Given the description of an element on the screen output the (x, y) to click on. 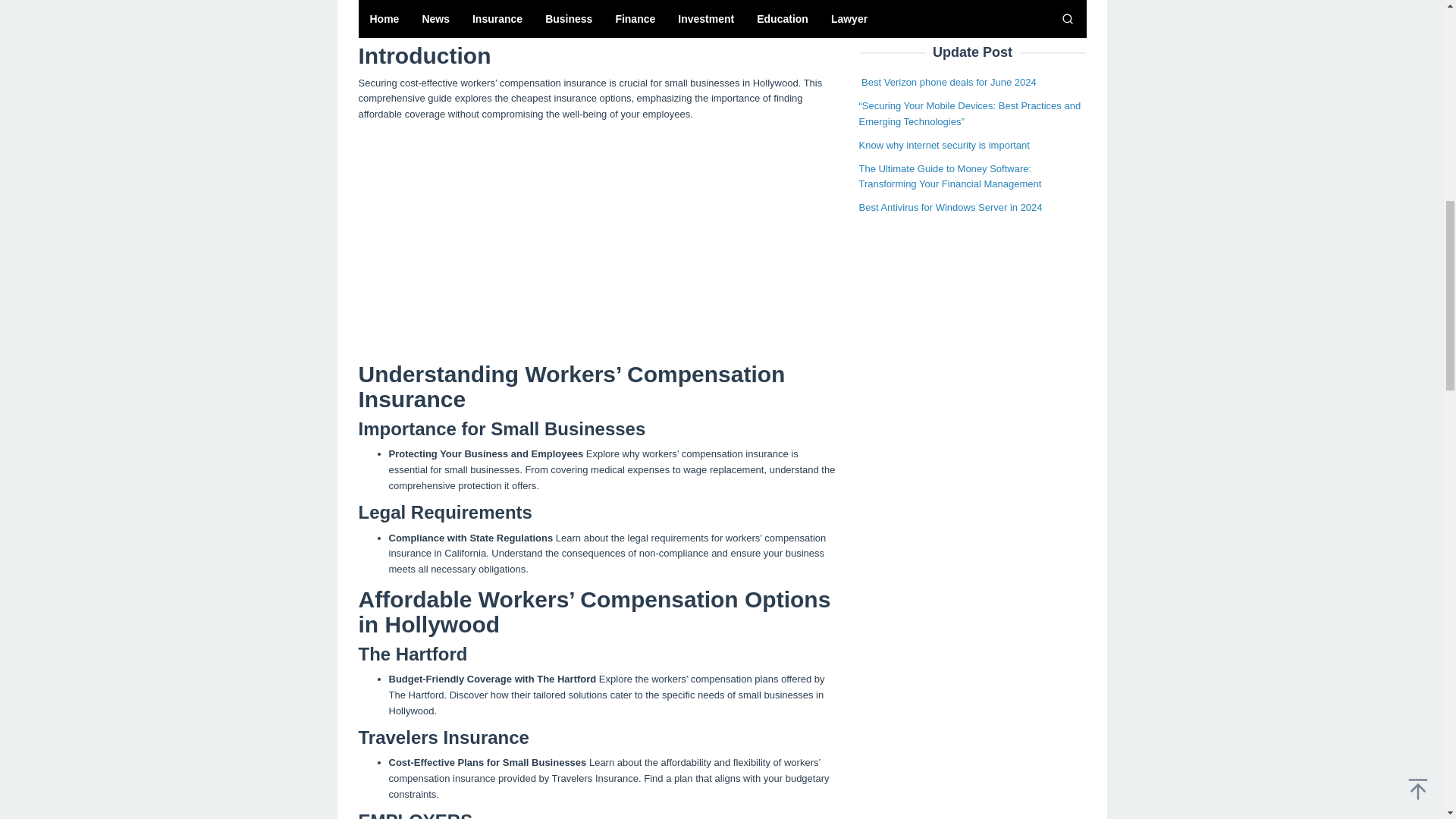
Advertisement (596, 240)
